Given the description of an element on the screen output the (x, y) to click on. 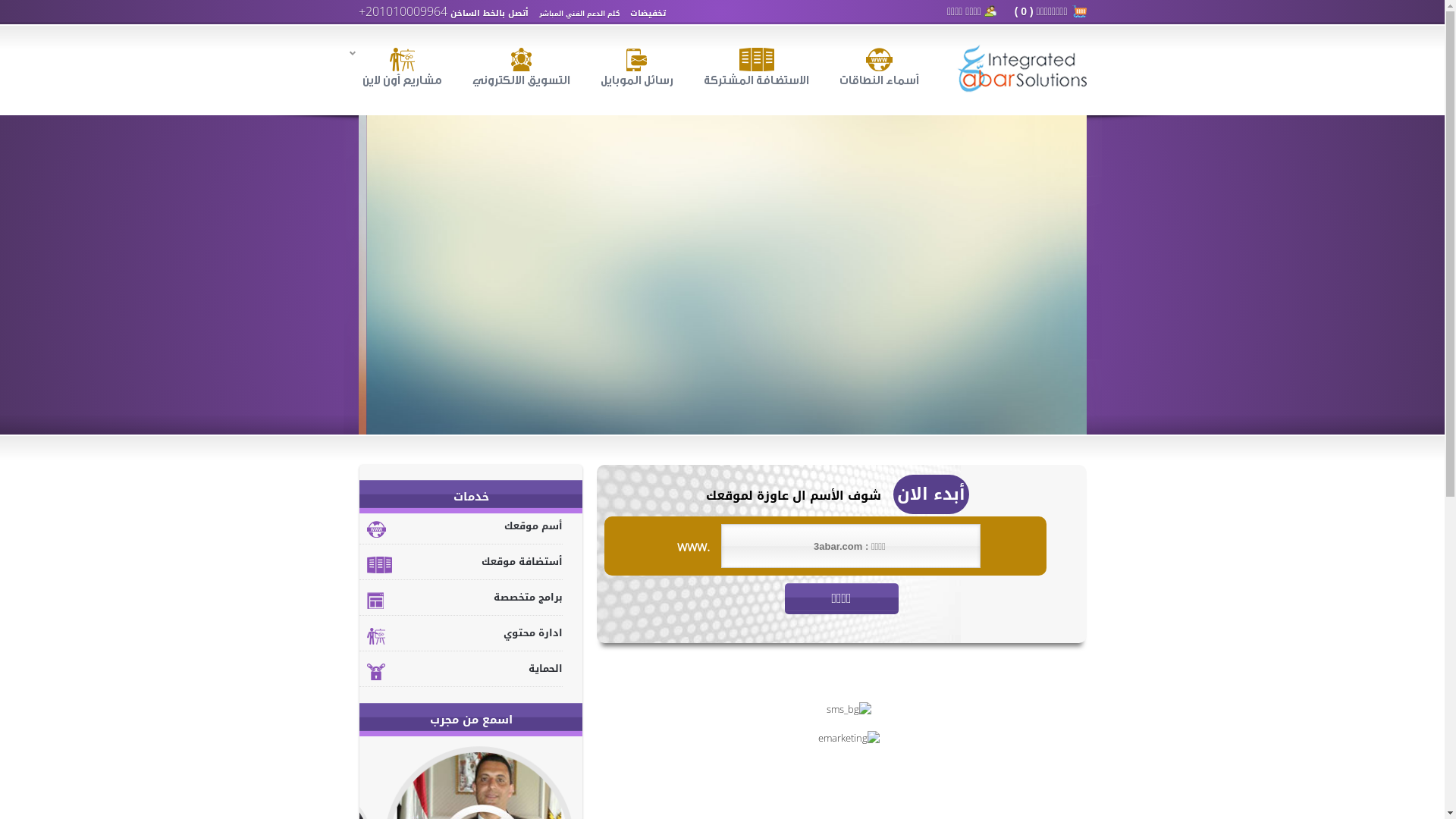
+201010009964 Element type: text (401, 13)
